Given the description of an element on the screen output the (x, y) to click on. 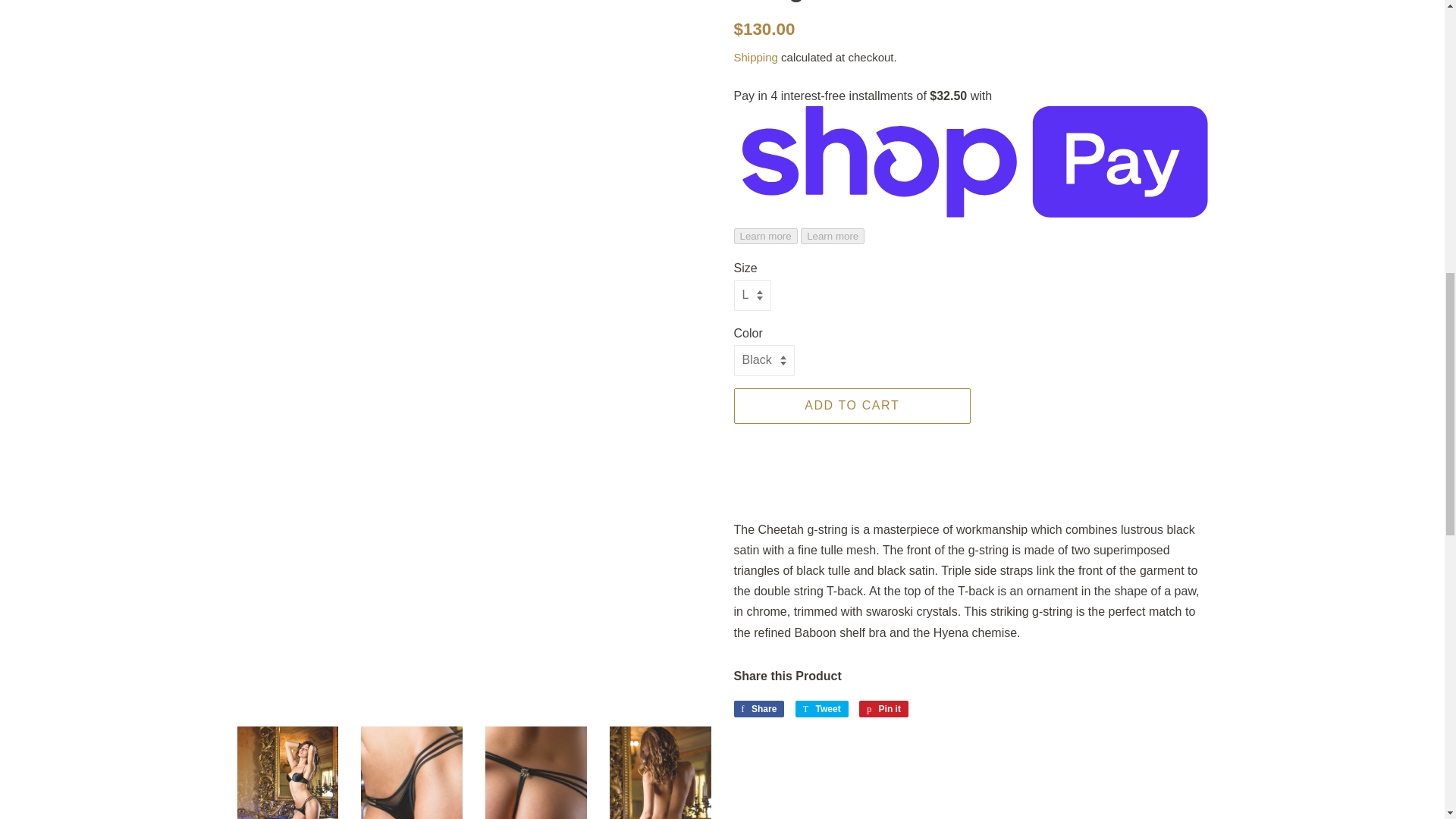
ADD TO CART (852, 406)
Tweet on Twitter (821, 709)
Shipping (755, 56)
Share on Facebook (758, 709)
Pin on Pinterest (883, 709)
